Given the description of an element on the screen output the (x, y) to click on. 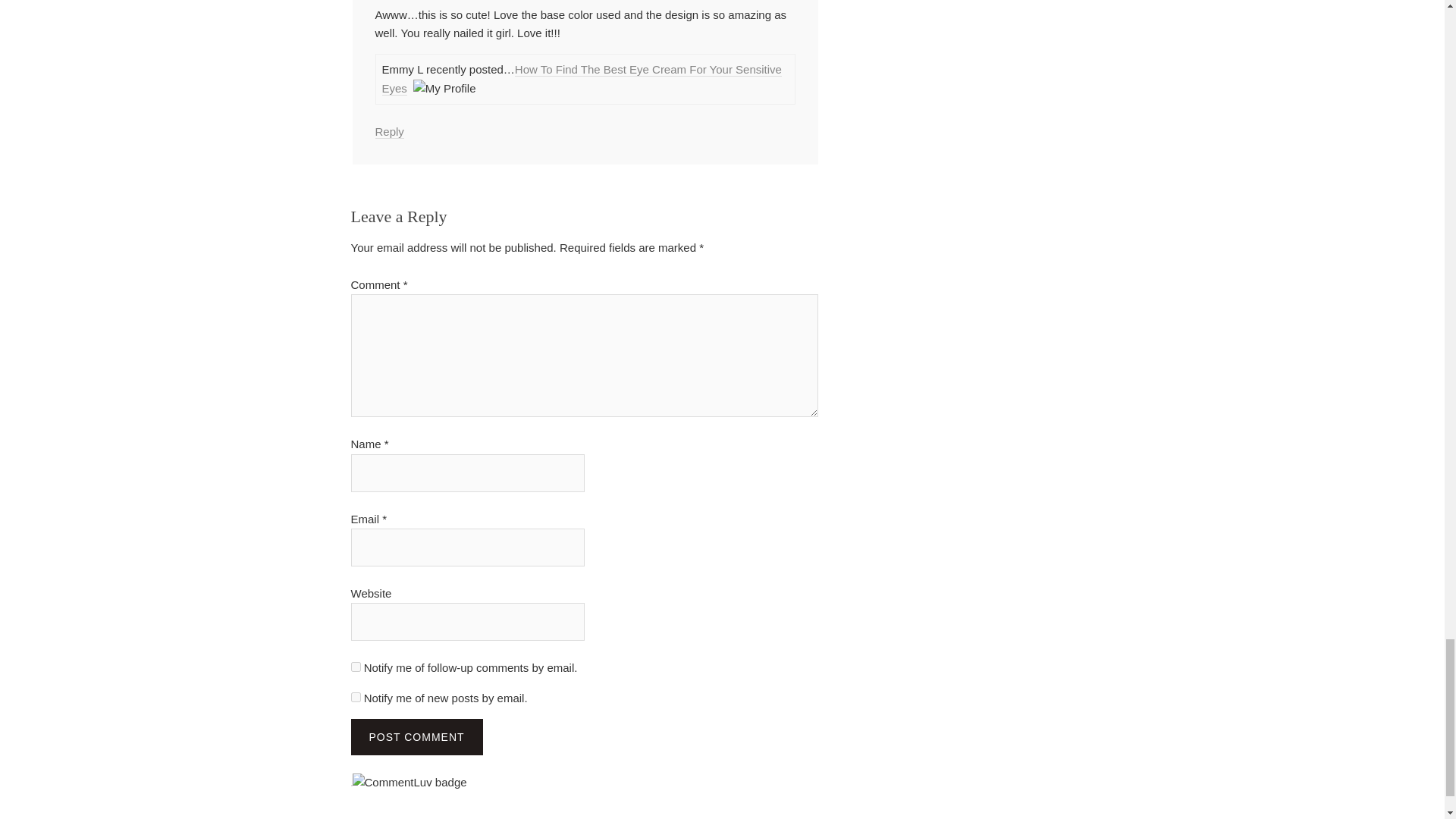
subscribe (354, 666)
Post Comment (415, 737)
subscribe (354, 696)
